Given the description of an element on the screen output the (x, y) to click on. 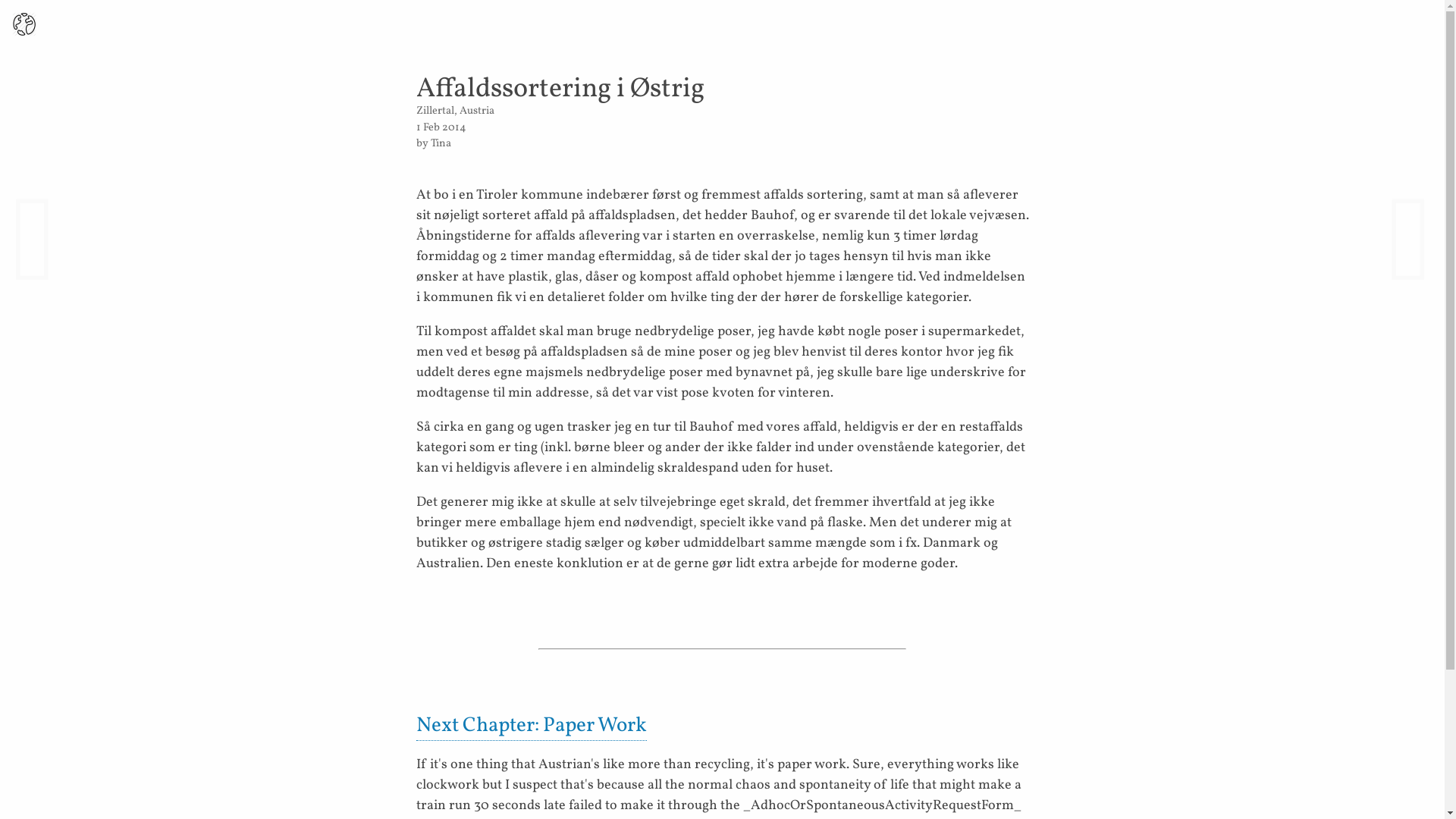
Next Chapter: Paper Work Element type: text (530, 725)
